Given the description of an element on the screen output the (x, y) to click on. 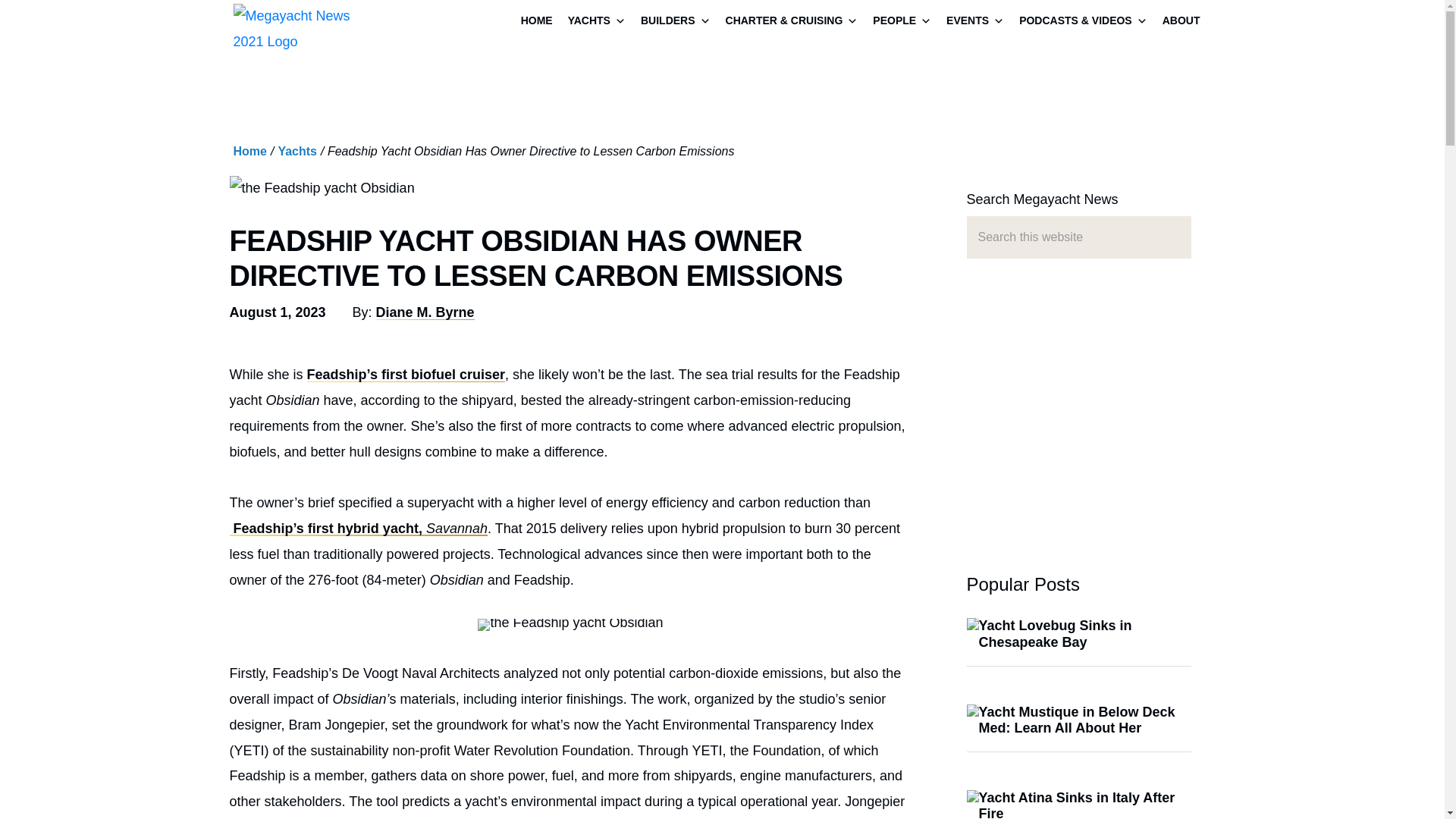
HOME (536, 22)
YACHTS (596, 22)
